Given the description of an element on the screen output the (x, y) to click on. 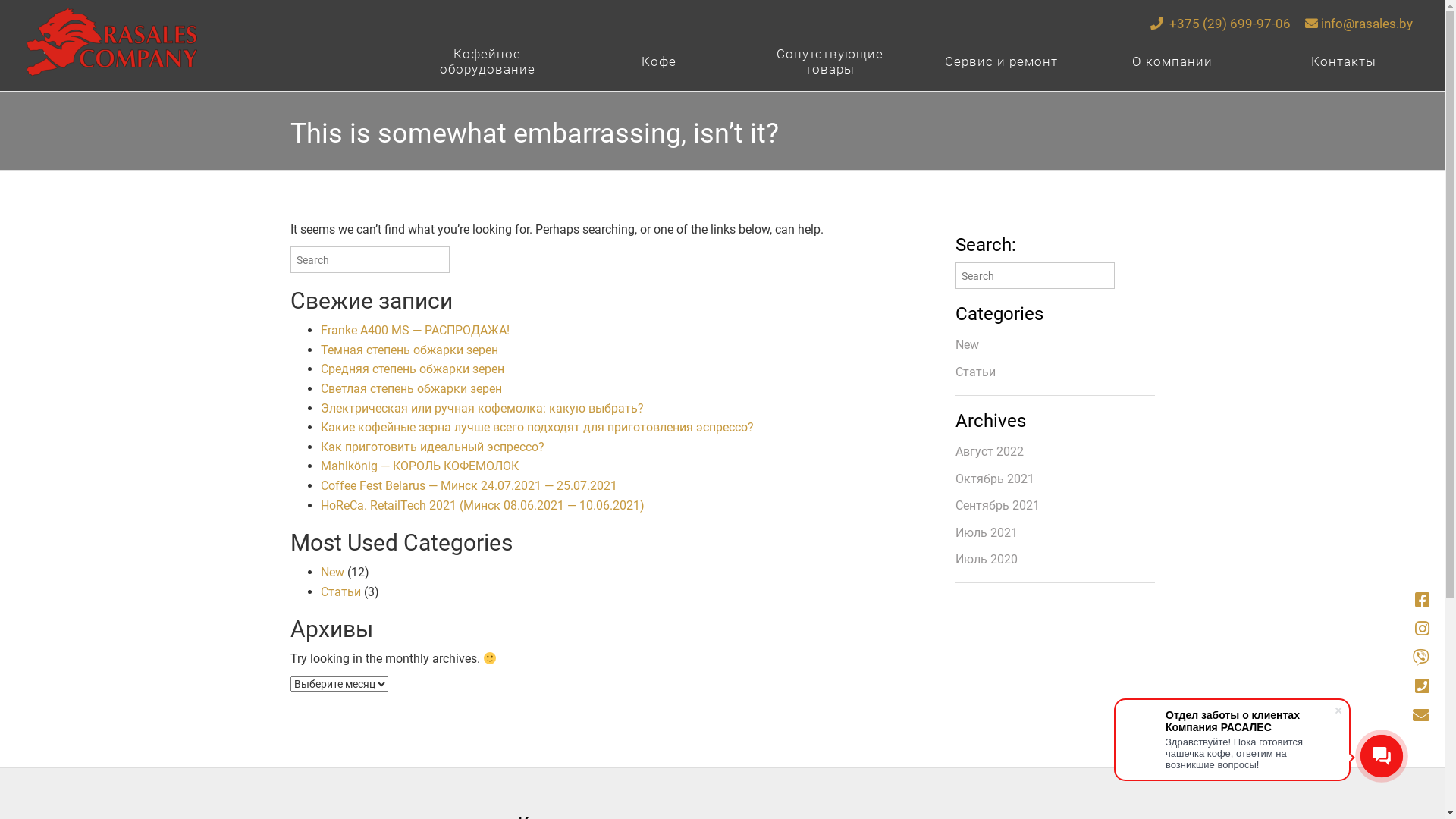
New Element type: text (331, 571)
New Element type: text (967, 344)
 info@rasales.by Element type: text (1358, 24)
  +375 (29) 699-97-06 Element type: text (1220, 24)
